Given the description of an element on the screen output the (x, y) to click on. 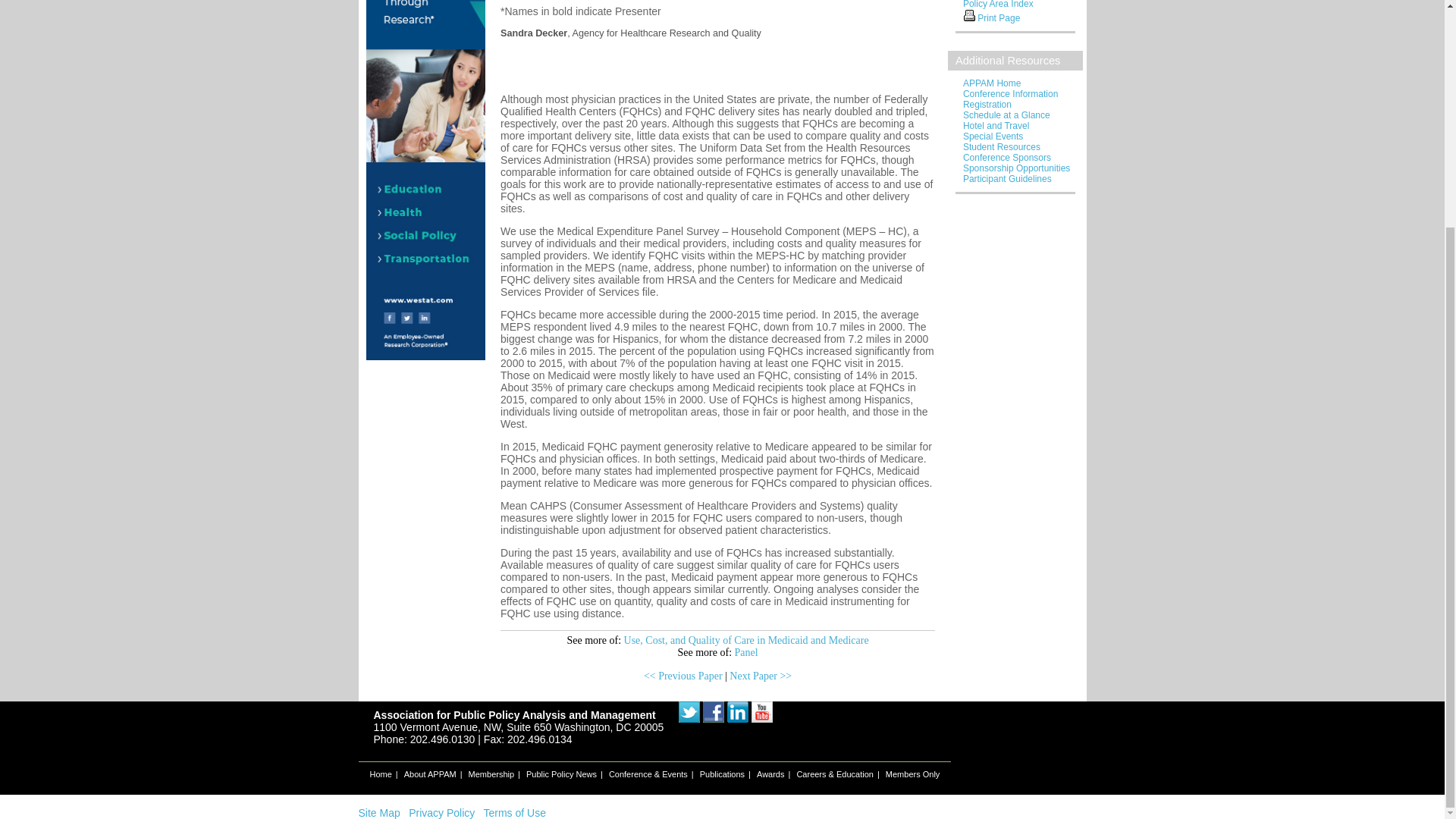
Panel (746, 652)
Use, Cost, and Quality of Care in Medicaid and Medicare (746, 640)
Print Page (968, 15)
